Given the description of an element on the screen output the (x, y) to click on. 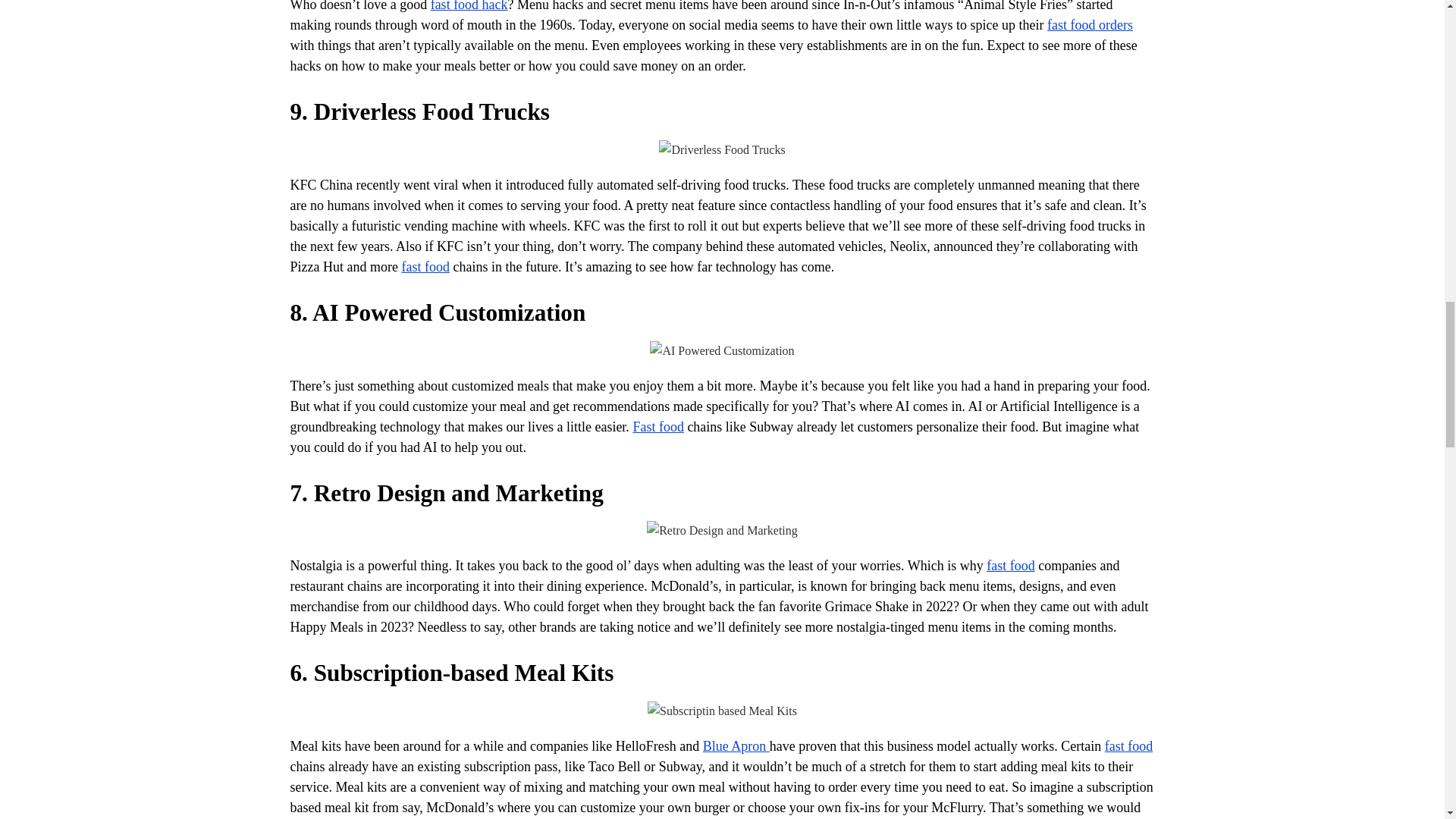
10 Craziest Fast Food Trends Coming for 2024 5 (721, 530)
10 Craziest Fast Food Trends Coming for 2024 4 (721, 351)
10 Craziest Fast Food Trends Coming for 2024 6 (721, 711)
10 Craziest Fast Food Trends Coming for 2024 3 (721, 149)
